Given the description of an element on the screen output the (x, y) to click on. 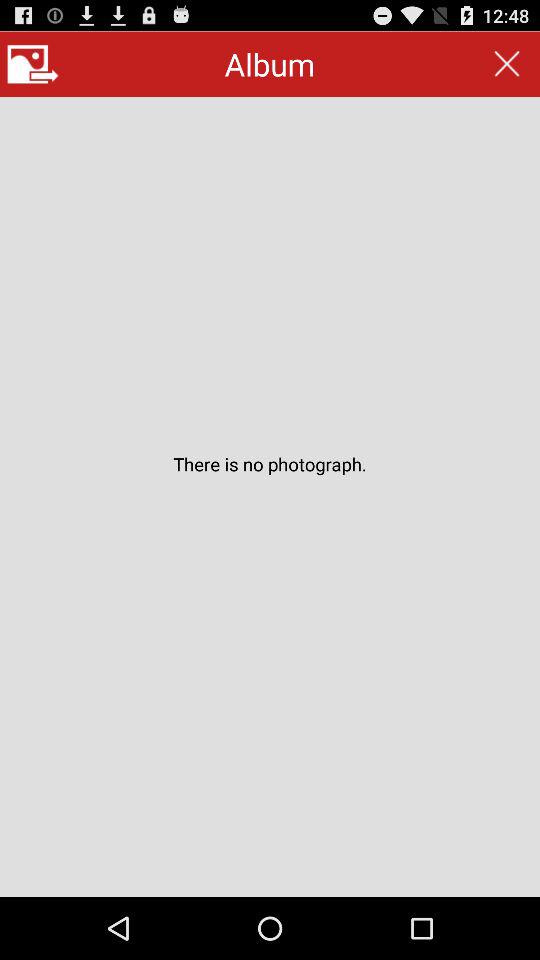
choose the icon to the left of the album (32, 64)
